Given the description of an element on the screen output the (x, y) to click on. 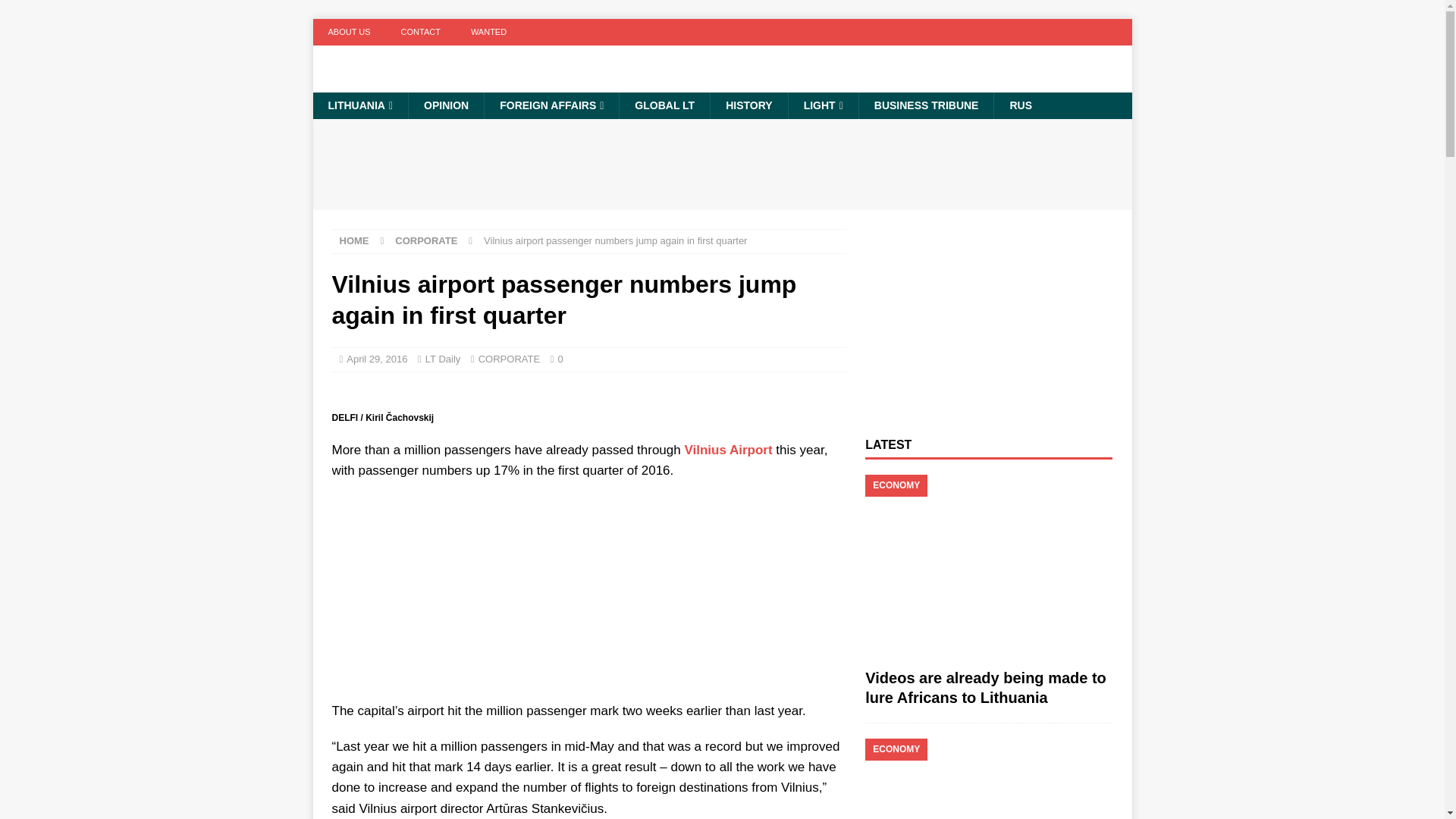
ABOUT US (349, 31)
WANTED (488, 31)
Vilnius Airport (727, 450)
LITHUANIA (360, 104)
CONTACT (420, 31)
